Given the description of an element on the screen output the (x, y) to click on. 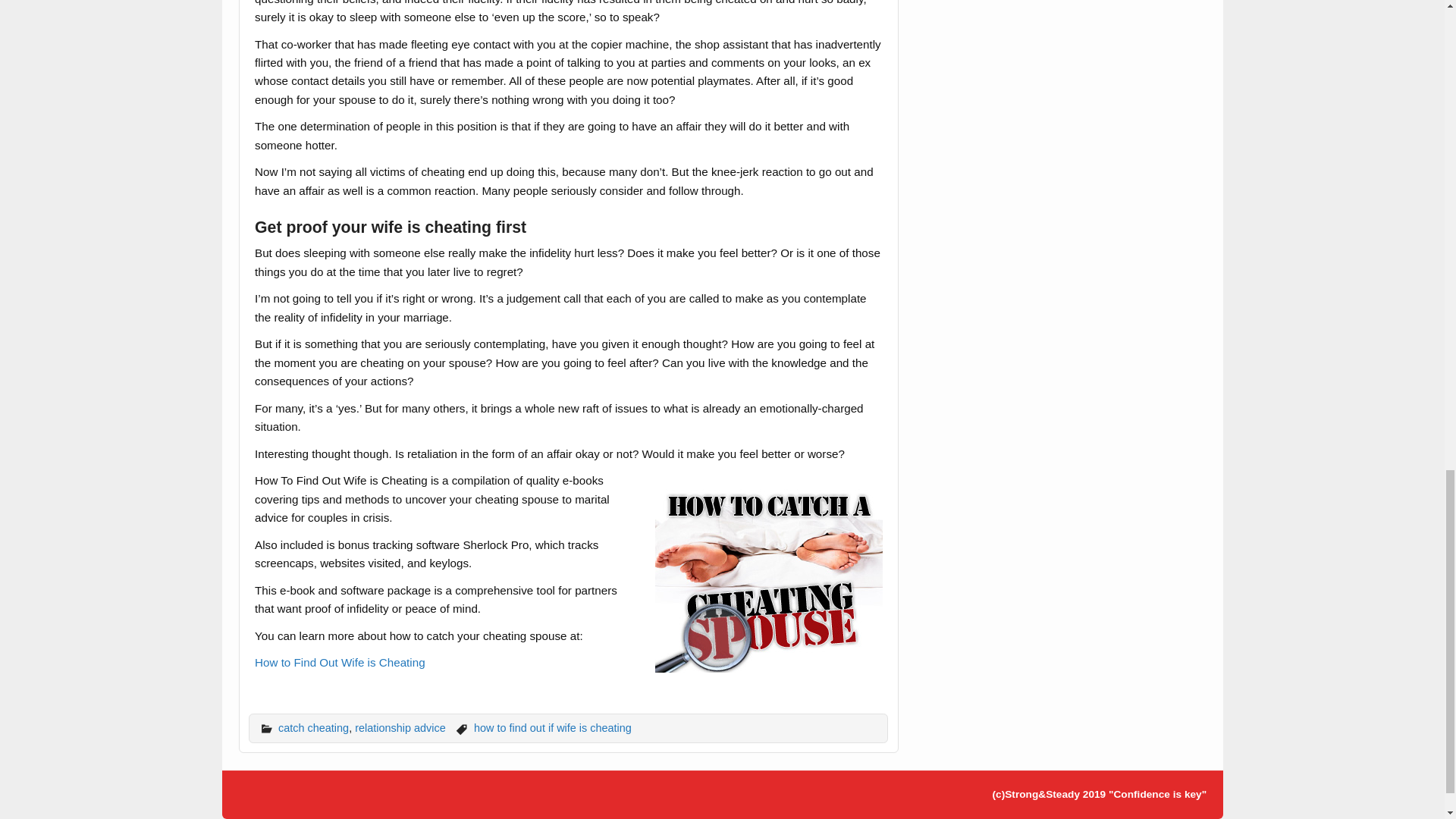
How to Find Out Wife is Cheating (339, 662)
relationship advice (400, 727)
catch cheating (313, 727)
how to find out if wife is cheating (552, 727)
